Given the description of an element on the screen output the (x, y) to click on. 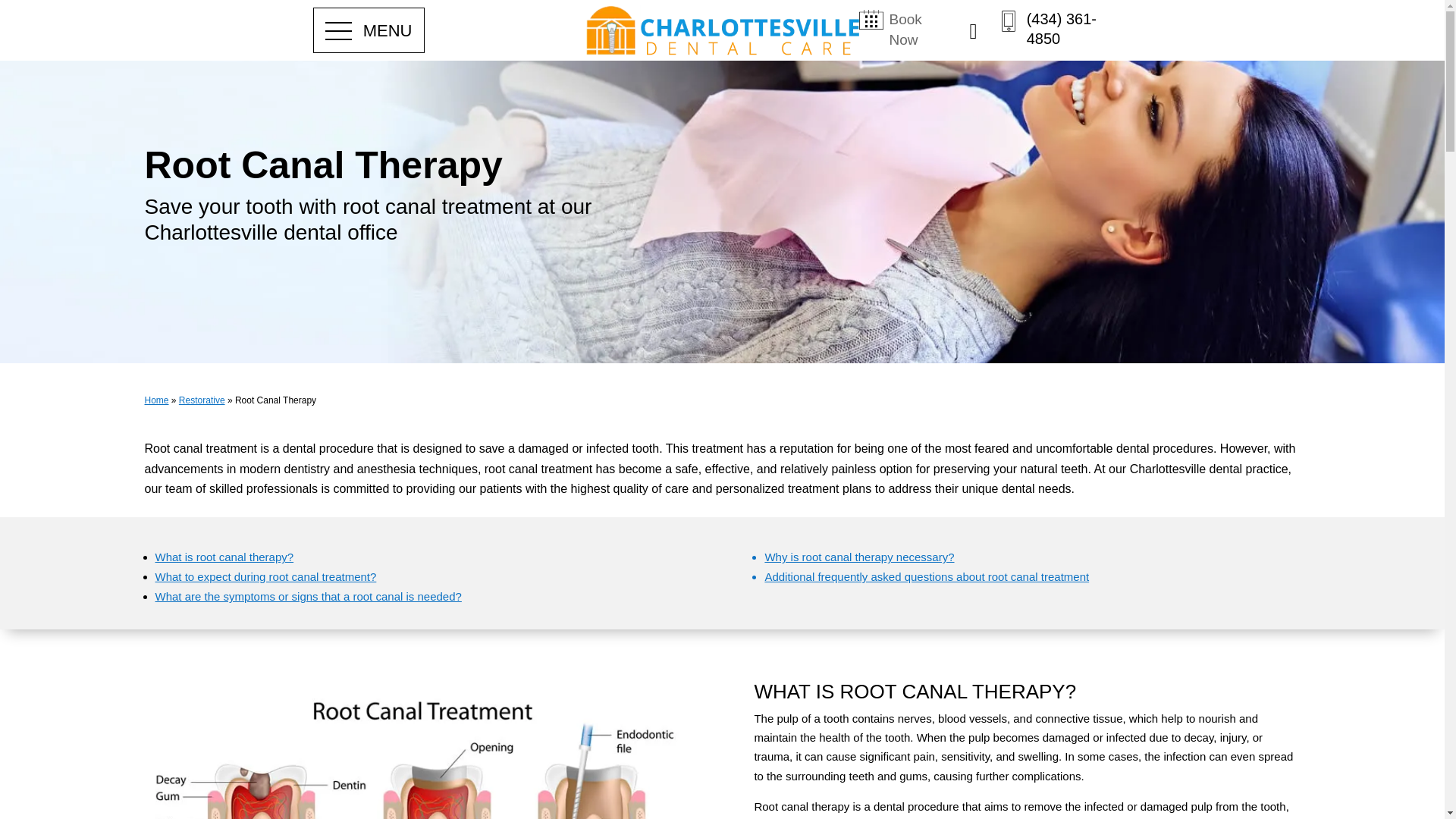
CharlottesvilleDentalCare (722, 30)
MENU (368, 31)
